Given the description of an element on the screen output the (x, y) to click on. 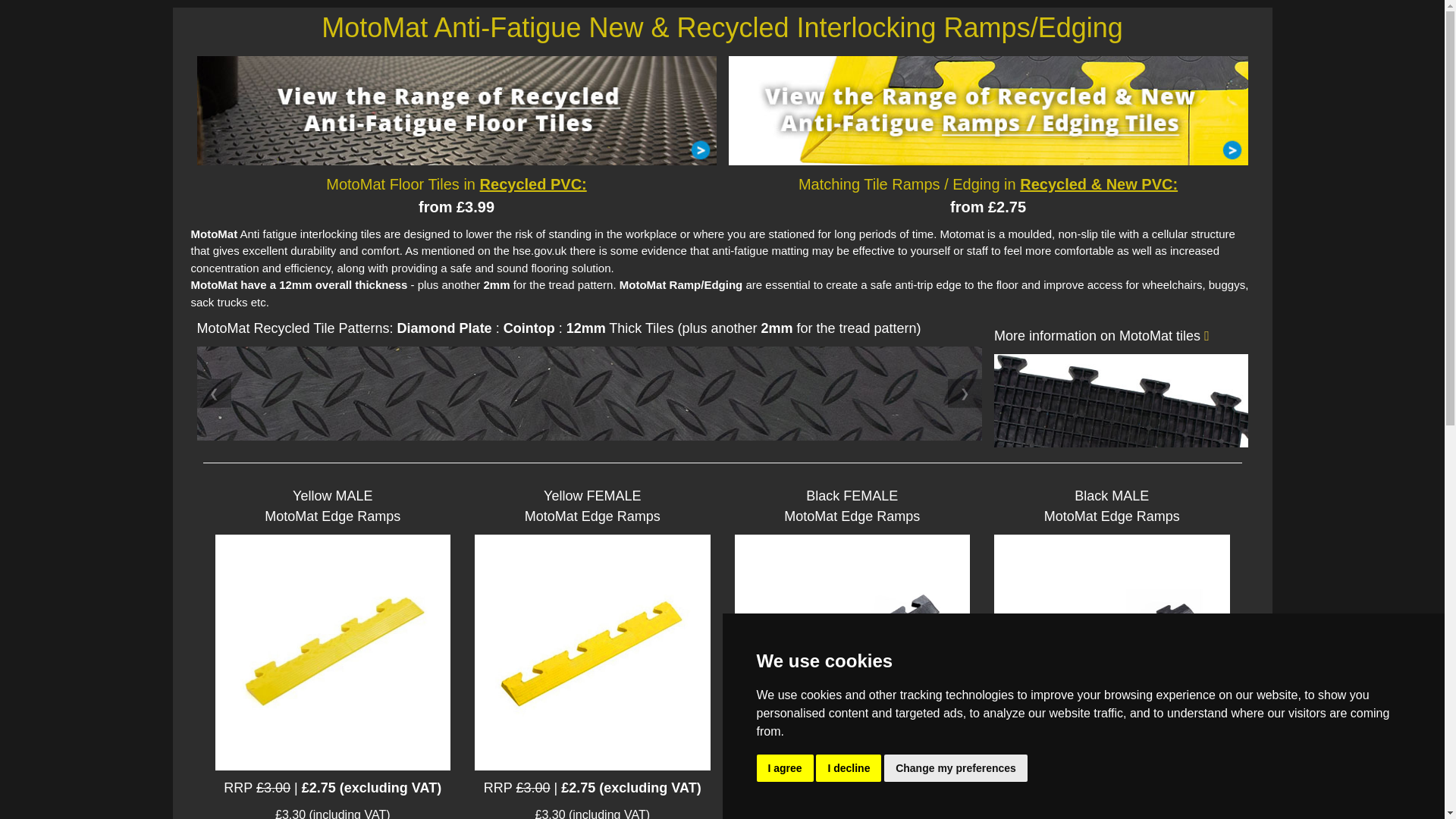
I agree (785, 768)
Change my preferences (955, 768)
I decline (847, 768)
